Given the description of an element on the screen output the (x, y) to click on. 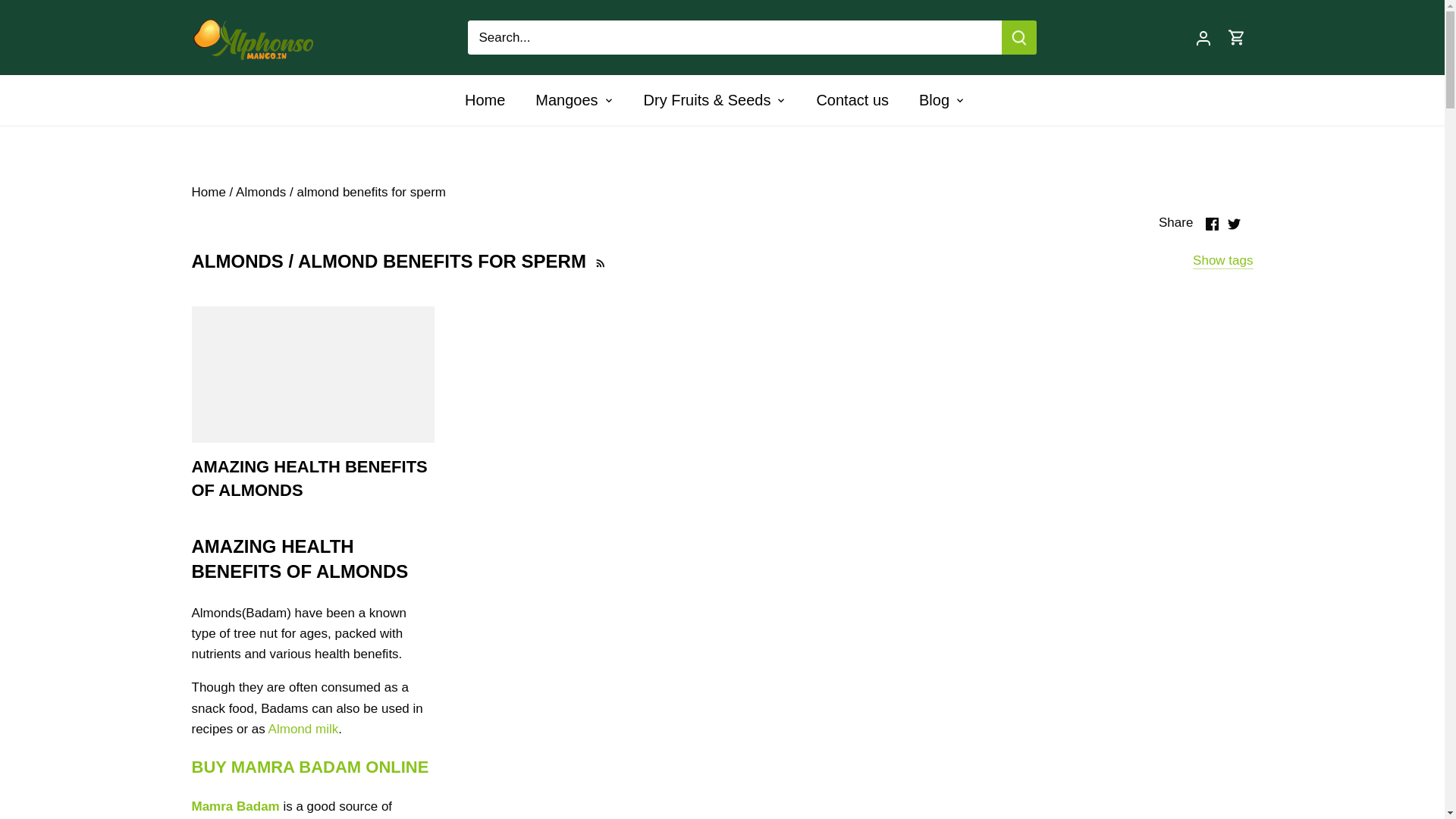
Almonds (260, 192)
Facebook (1211, 223)
Blog (933, 100)
Show tags (1222, 261)
Home (491, 100)
Contact us (852, 100)
Twitter (1233, 223)
almond benefits for sperm (371, 192)
Home (207, 192)
Mangoes (565, 100)
